Given the description of an element on the screen output the (x, y) to click on. 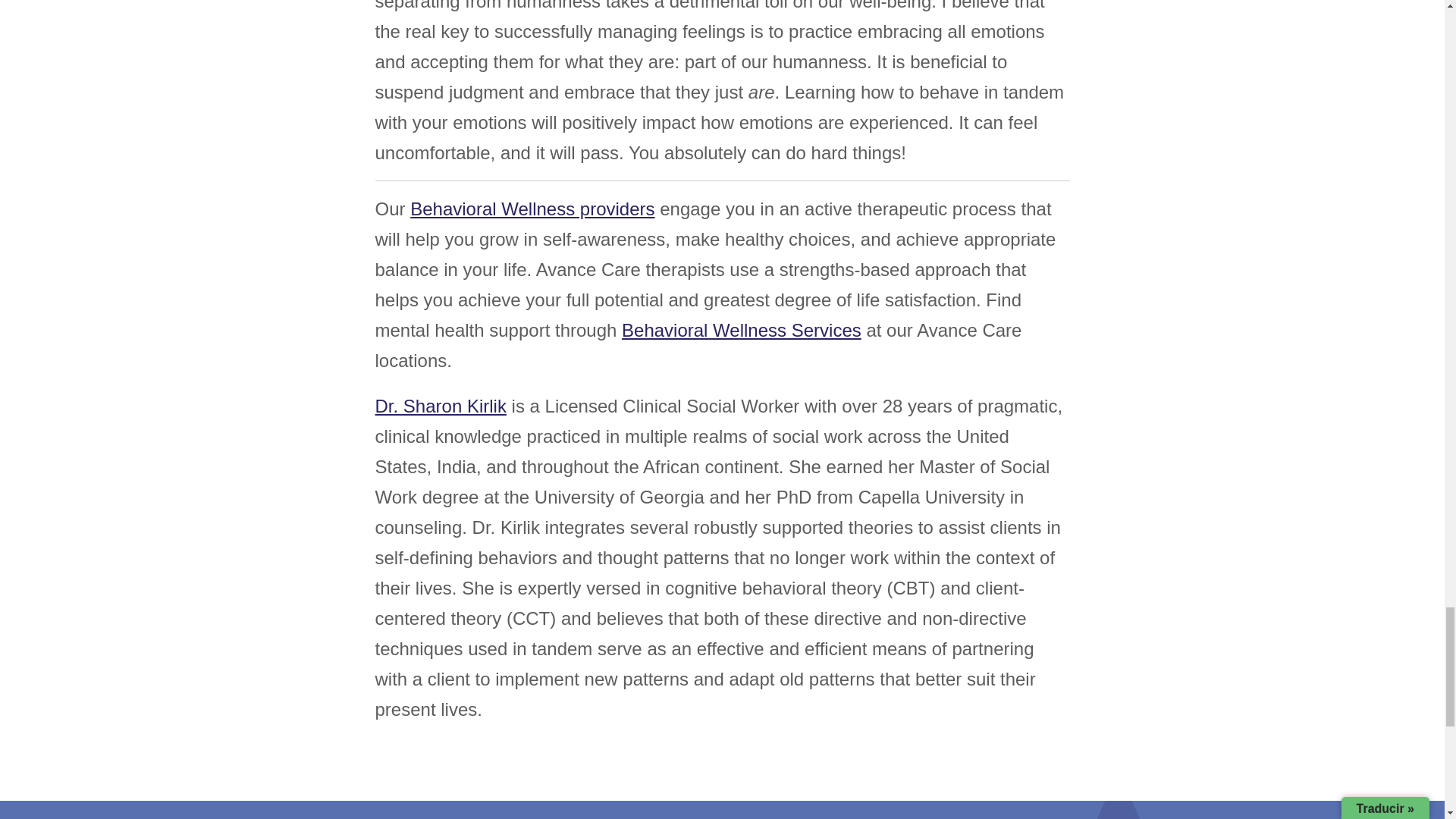
Behavioral Wellness Services (741, 330)
Dr. Sharon Kirlik (439, 405)
Behavioral Wellness providers (531, 209)
